Given the description of an element on the screen output the (x, y) to click on. 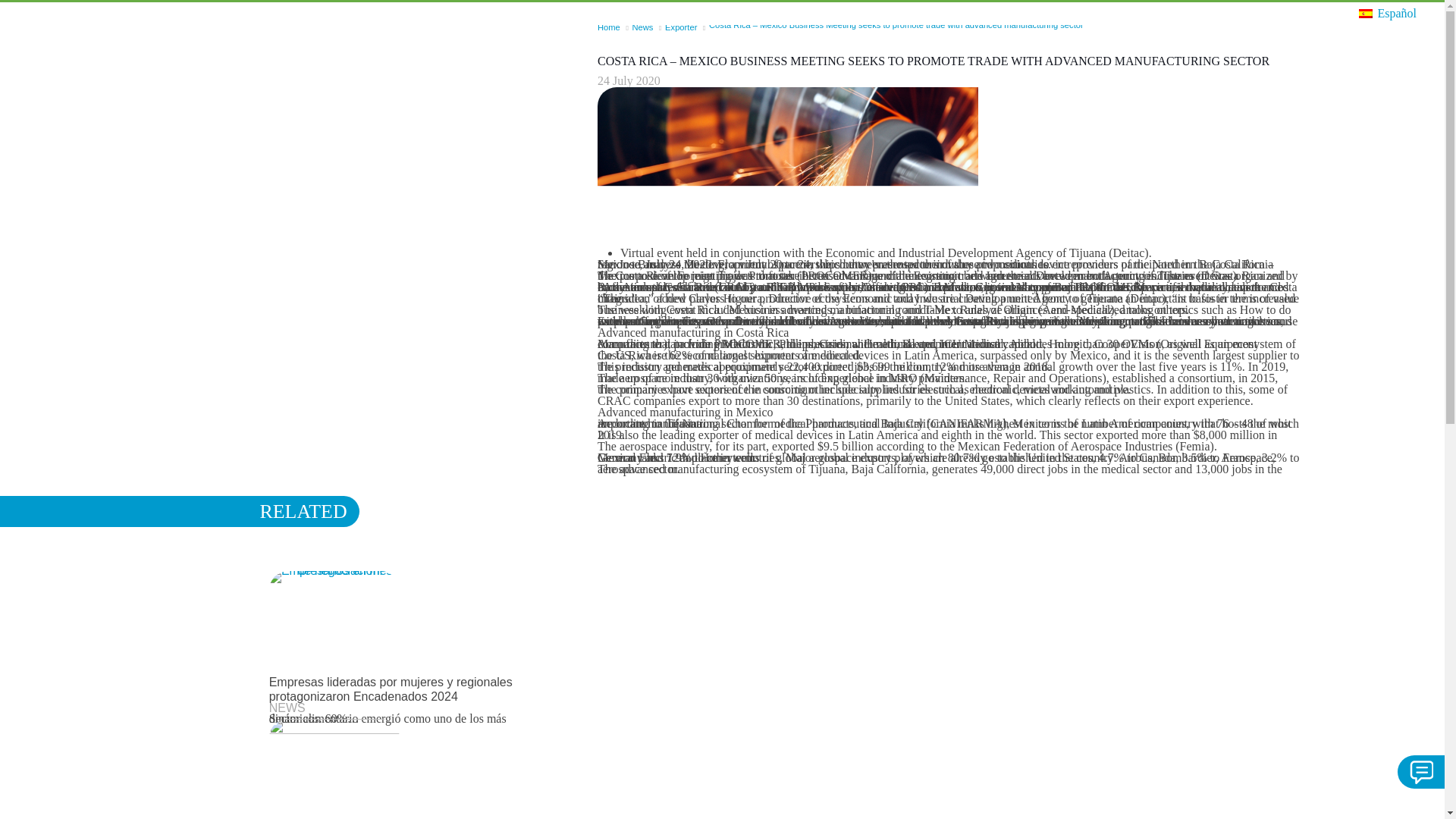
Home (608, 26)
Exporter (681, 26)
NEWS (287, 707)
News (641, 26)
